Given the description of an element on the screen output the (x, y) to click on. 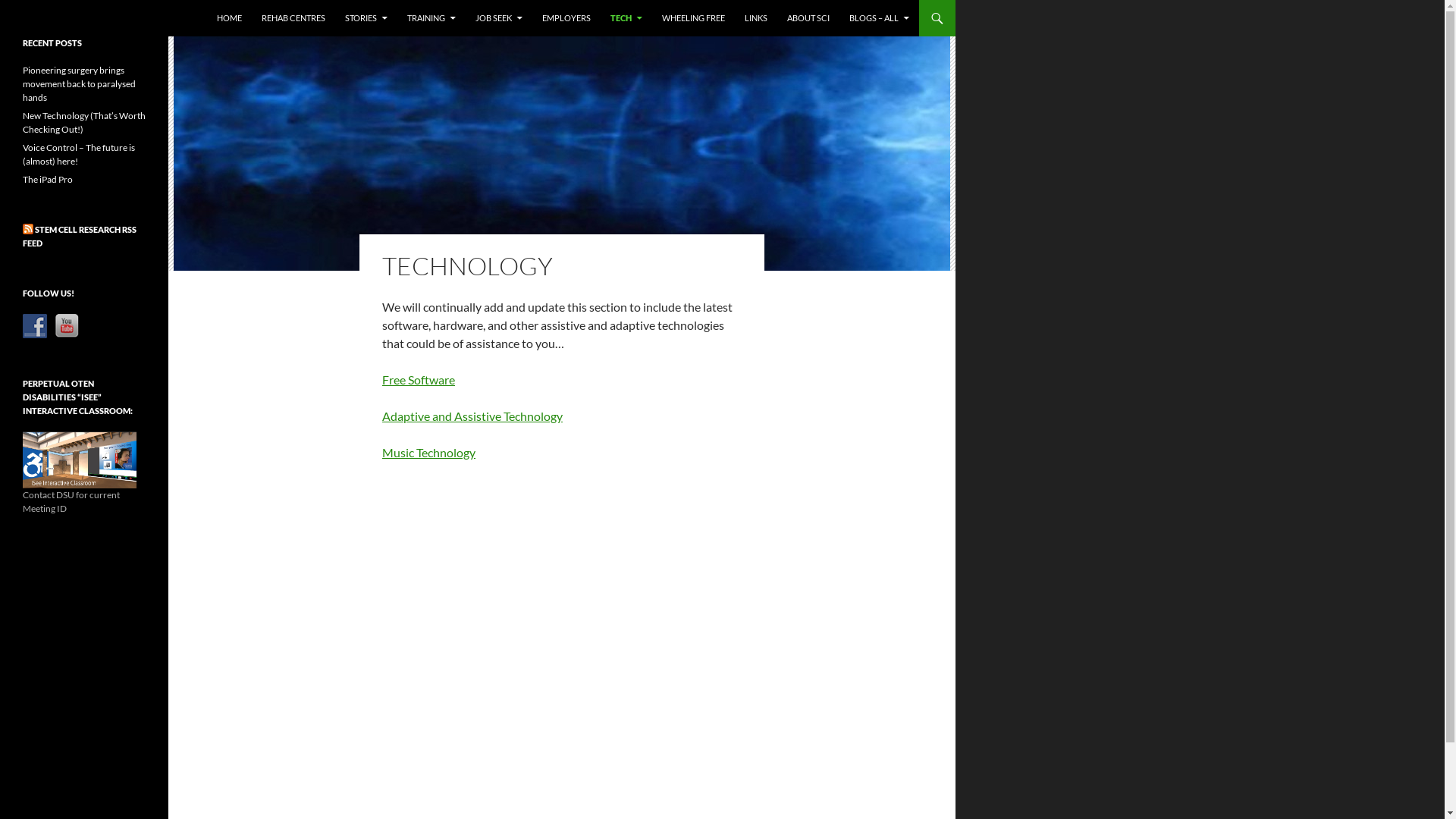
SKIP TO CONTENT Element type: text (216, 0)
The iPad Pro Element type: text (47, 179)
EMPLOYERS Element type: text (566, 18)
STEM CELL RESEARCH RSS FEED Element type: text (79, 235)
HOME Element type: text (229, 18)
ABOUT SCI Element type: text (808, 18)
STORIES Element type: text (365, 18)
WHEELING FREE Element type: text (693, 18)
TECH Element type: text (626, 18)
JOB SEEK Element type: text (498, 18)
Spinalworks Element type: text (59, 18)
Adaptive and Assistive Technology Element type: text (472, 415)
Follow Us on Facebook Element type: hover (34, 325)
LINKS Element type: text (755, 18)
Follow Us on YouTube Element type: hover (66, 325)
Free Software Element type: text (418, 379)
Search Element type: text (3, 0)
REHAB CENTRES Element type: text (293, 18)
Pioneering surgery brings movement back to paralysed hands Element type: text (78, 83)
Music Technology Element type: text (428, 452)
TRAINING Element type: text (431, 18)
